Given the description of an element on the screen output the (x, y) to click on. 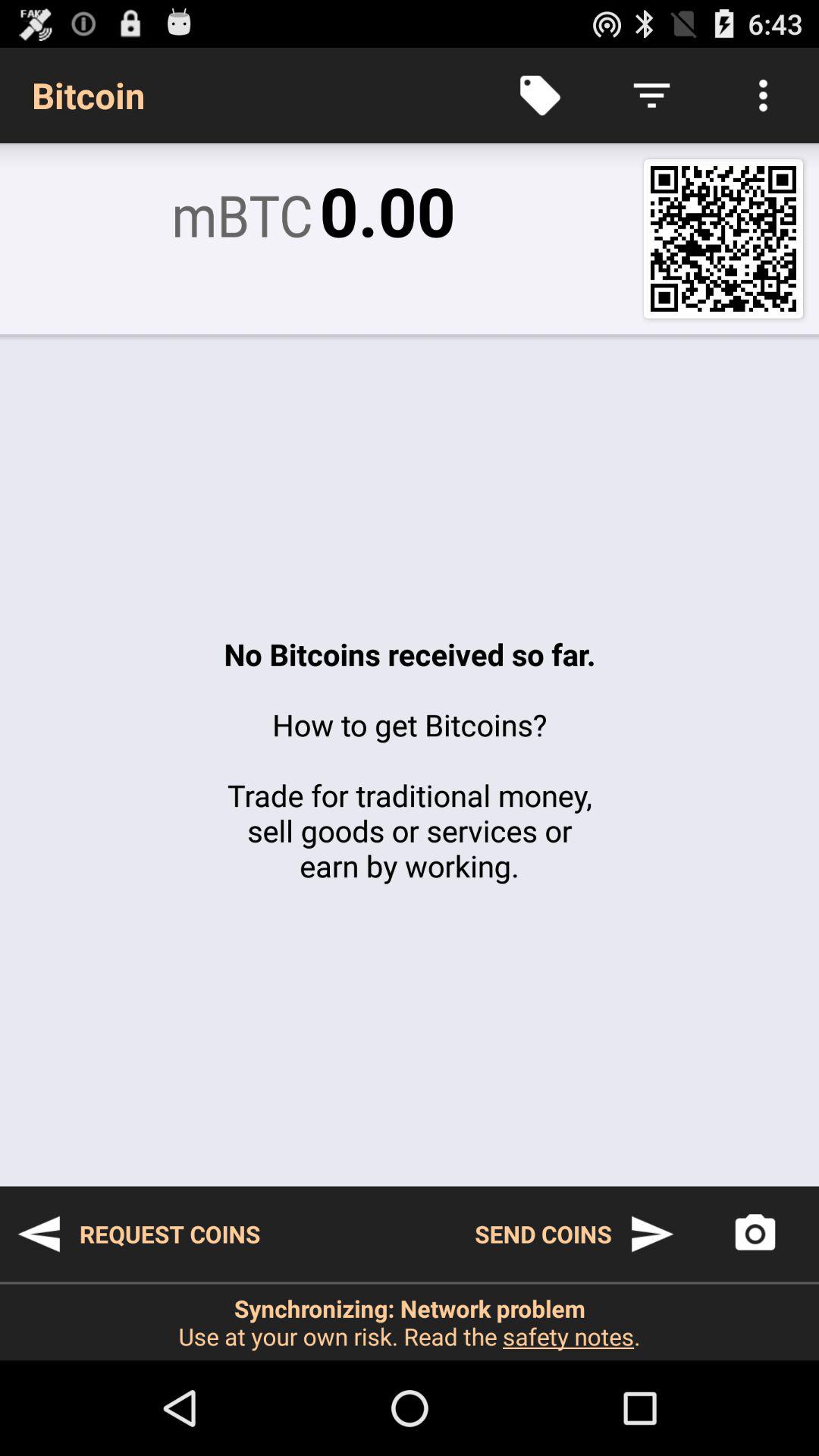
press button to the right of the send coins (755, 1233)
